Given the description of an element on the screen output the (x, y) to click on. 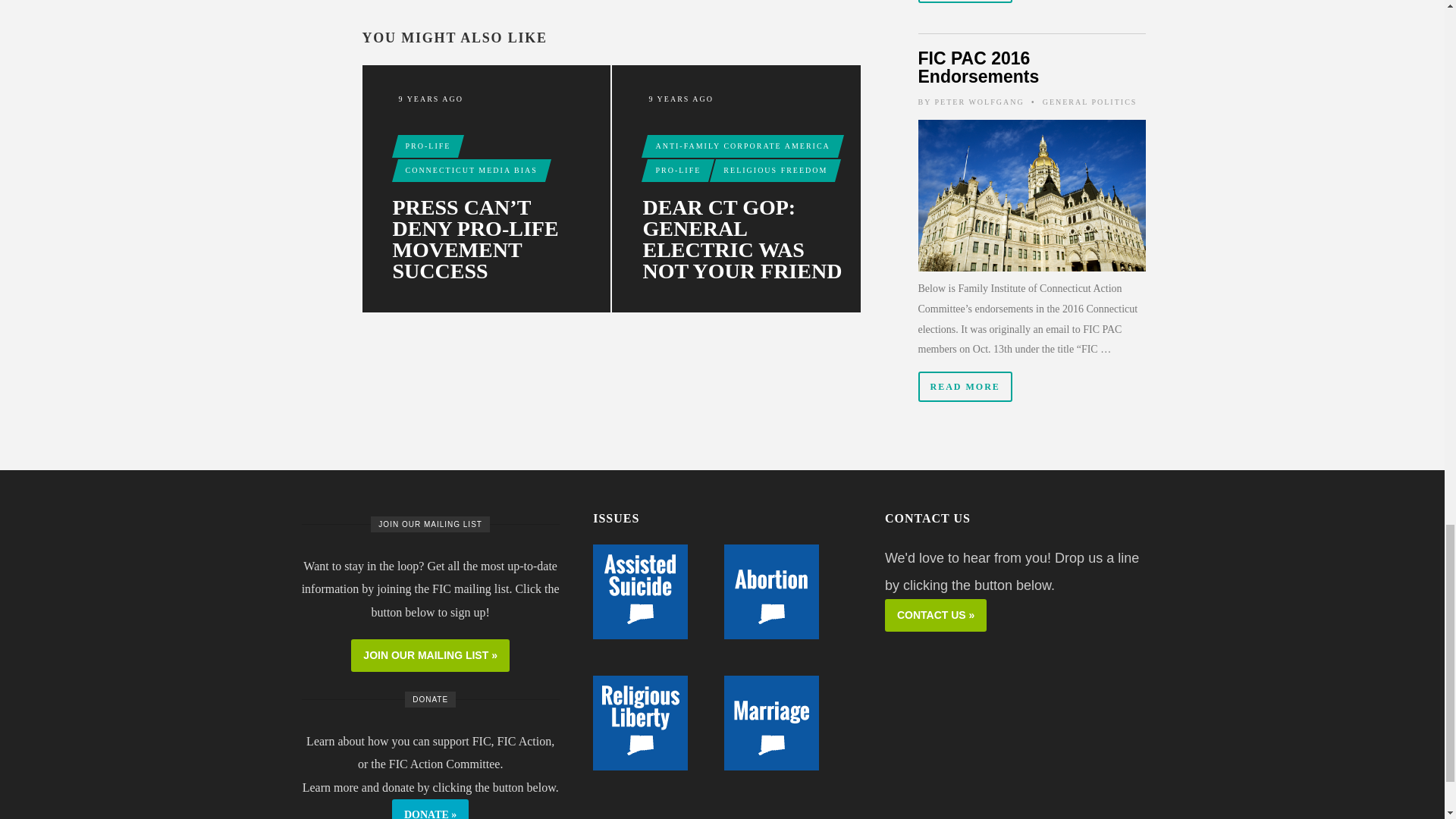
More Anti-Family Corporate America Posts (742, 146)
More Pro-Life Posts (427, 146)
Dear CT GOP: General Electric Was Not Your Friend (746, 239)
More Pro-Life Posts (677, 169)
More Religious Freedom Posts (775, 169)
More Connecticut Media Bias Posts (470, 169)
